Given the description of an element on the screen output the (x, y) to click on. 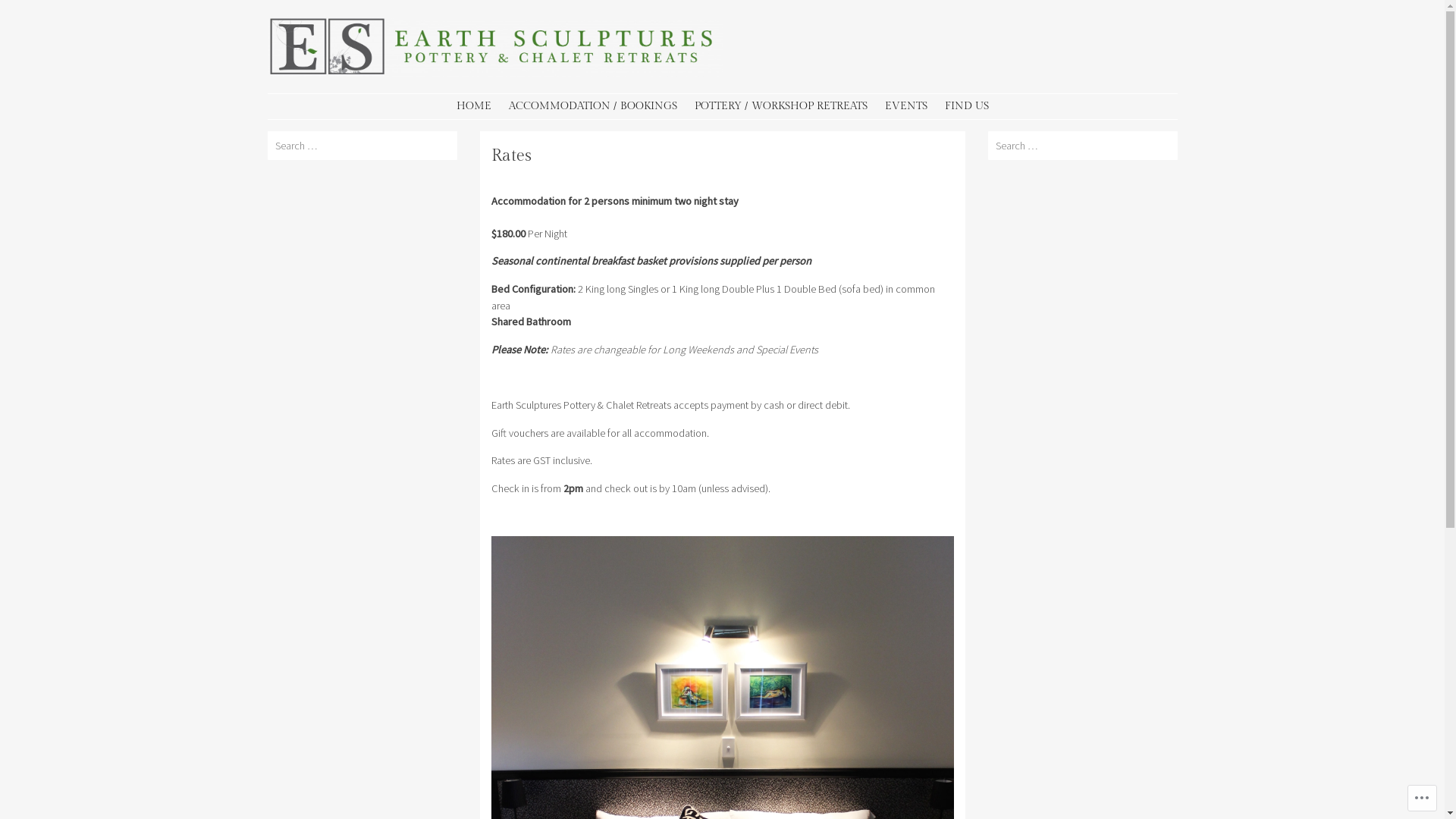
Search Element type: text (22, 9)
SKIP TO CONTENT Element type: text (321, 106)
HOME Element type: text (473, 106)
FIND US Element type: text (966, 106)
EARTH SCULPTURES POTTERY & CHALET RETREATS TOODYAY Element type: text (544, 90)
ACCOMMODATION / BOOKINGS Element type: text (592, 106)
EVENTS Element type: text (905, 106)
POTTERY / WORKSHOP RETREATS Element type: text (781, 106)
Earth Sculptures Pottery & Chalet Retreats Toodyay Element type: hover (493, 72)
